Given the description of an element on the screen output the (x, y) to click on. 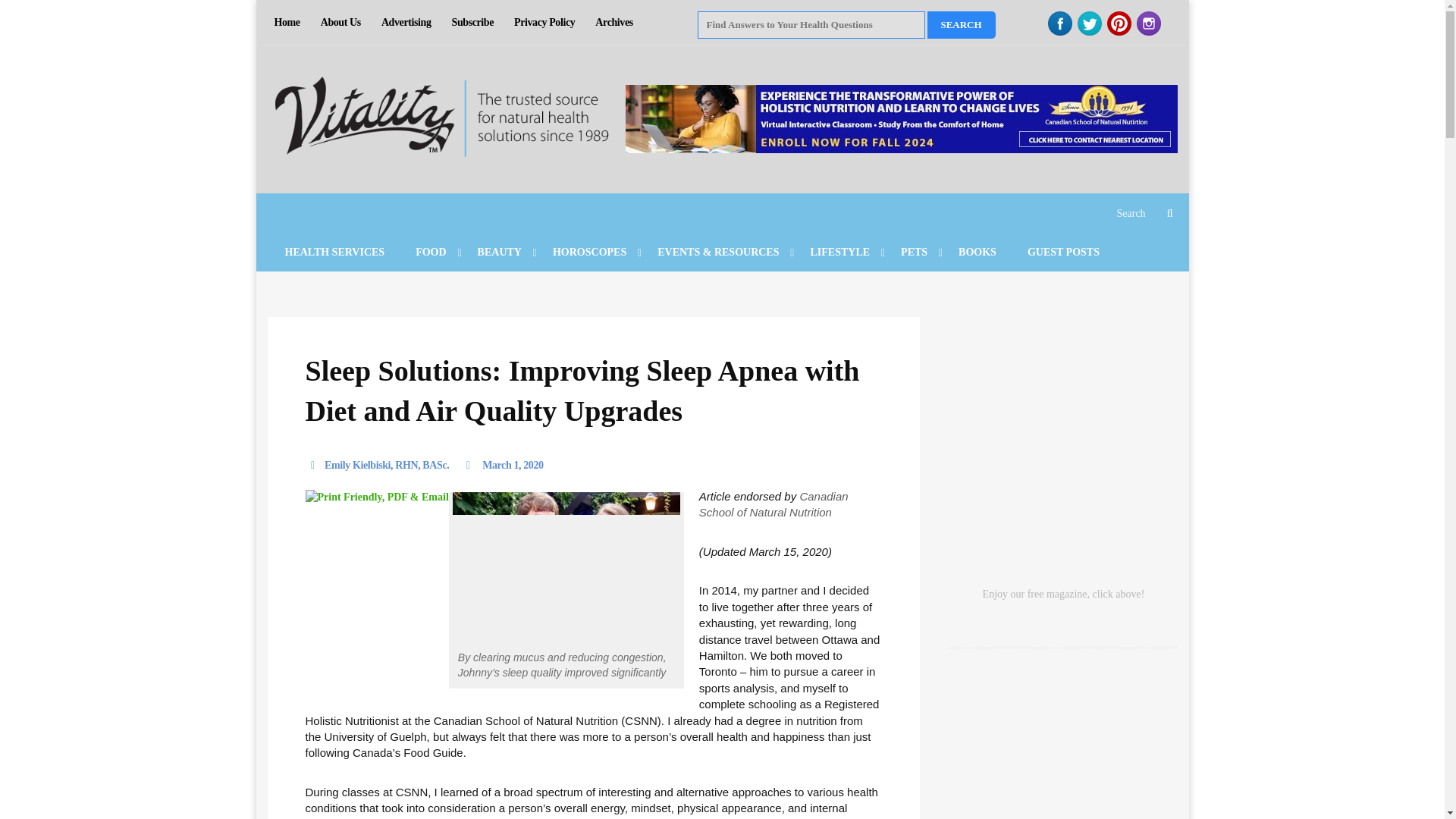
BEAUTY (497, 252)
HOROSCOPES (587, 252)
Advertising (409, 22)
Search (960, 24)
Subscribe (475, 22)
Archives (617, 22)
Posts by Emily Kielbiski, RHN, BASc. (376, 465)
FOOD (428, 252)
Search for: (810, 24)
Search (960, 24)
About Us (343, 22)
Privacy Policy (721, 22)
Home (547, 22)
HEALTH SERVICES (290, 22)
